Given the description of an element on the screen output the (x, y) to click on. 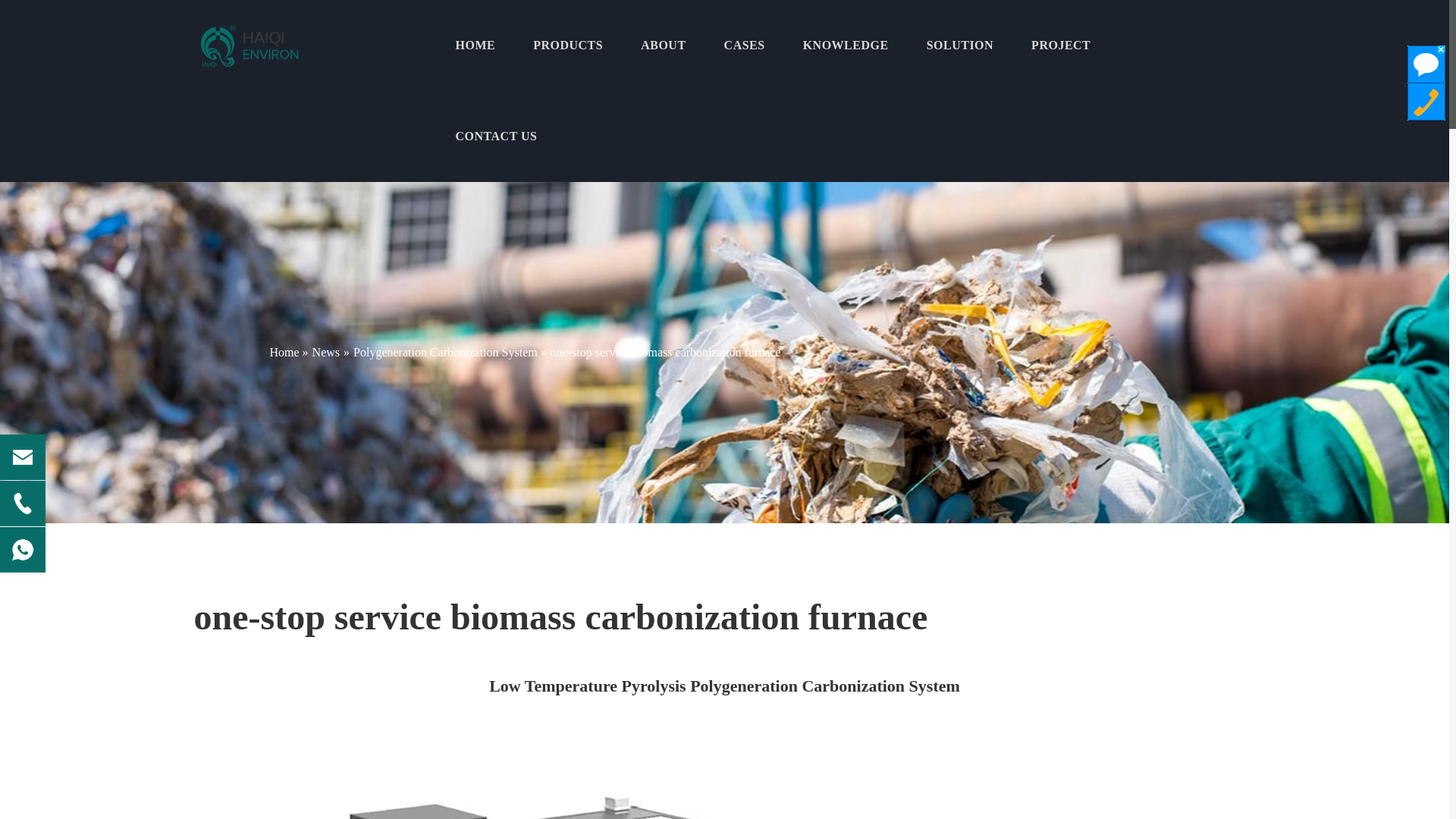
Polygeneration Carbonization System (445, 351)
Products (567, 45)
News (326, 351)
Contact us (496, 135)
Haiqi Biomass Gasifier Factory (250, 45)
PROJECT DISPLAY (1060, 45)
About (662, 45)
ABOUT (662, 45)
SOLUTION (959, 45)
KNOWLEDGE (845, 45)
